Given the description of an element on the screen output the (x, y) to click on. 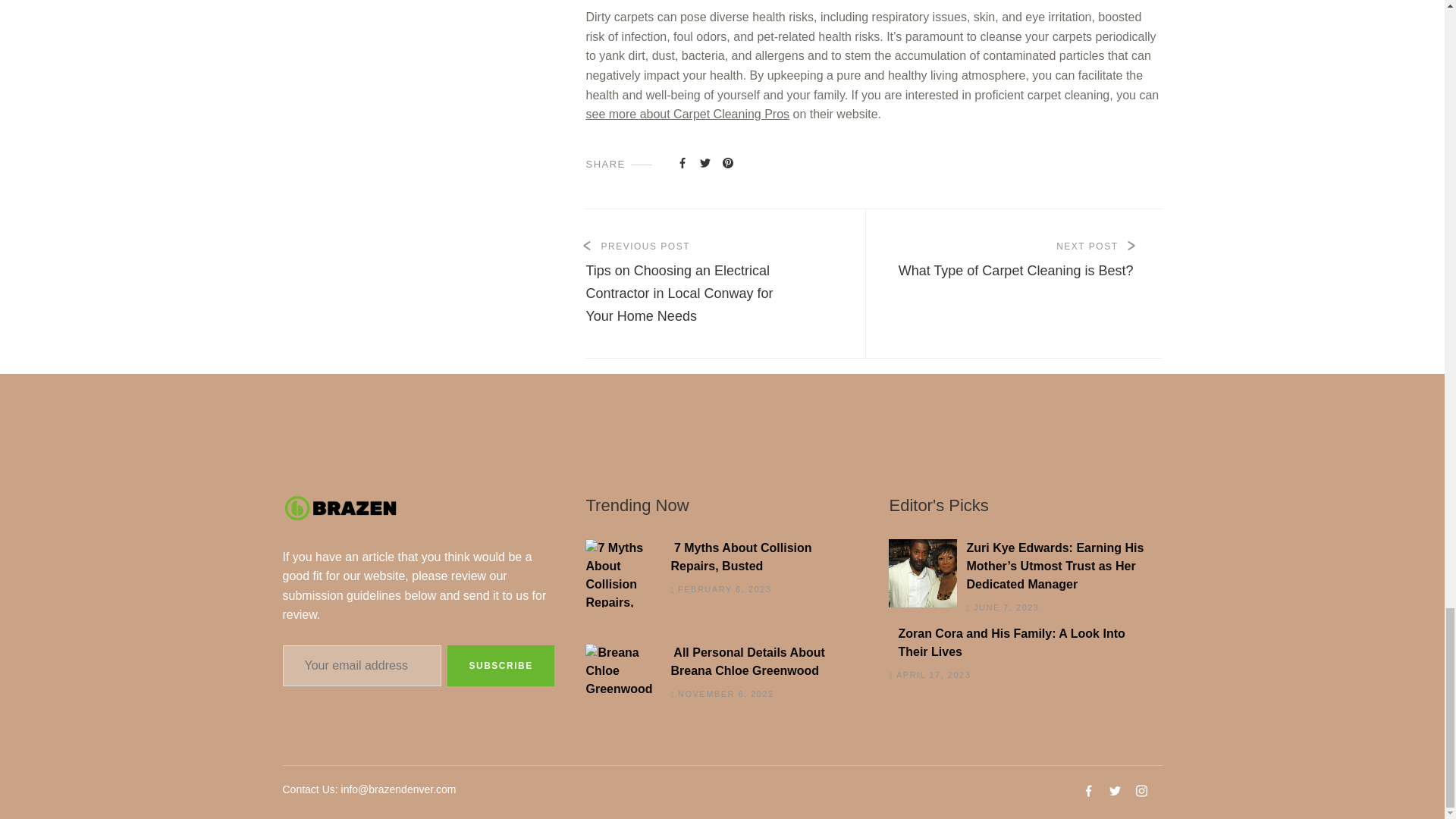
see more about Carpet Cleaning Pros (687, 113)
SUBSCRIBE (499, 665)
Zoran Cora and His Family: A Look Into Their Lives (1024, 260)
 7 Myths About Collision Repairs, Busted  (1021, 642)
 All Personal Details About Breana Chloe Greenwood (717, 556)
